Given the description of an element on the screen output the (x, y) to click on. 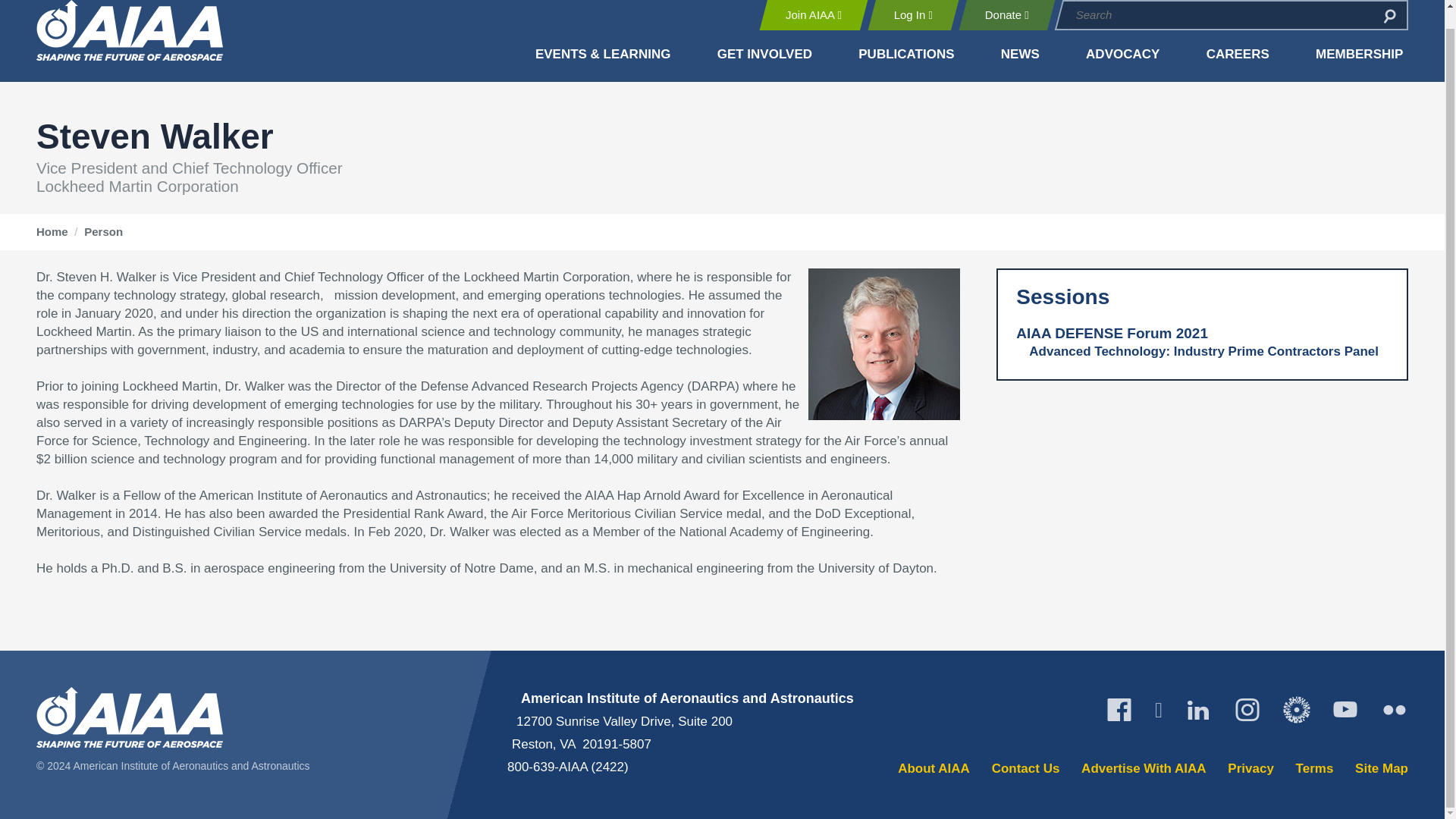
Donate (1006, 15)
Log In (913, 15)
Flickr (1393, 709)
LinkedIn (1198, 709)
Steven-Walker (883, 344)
Engage (1296, 709)
Join AIAA (813, 15)
YouTube (1345, 709)
Instagram (1246, 709)
GET INVOLVED (764, 54)
Facebook (1118, 709)
